Given the description of an element on the screen output the (x, y) to click on. 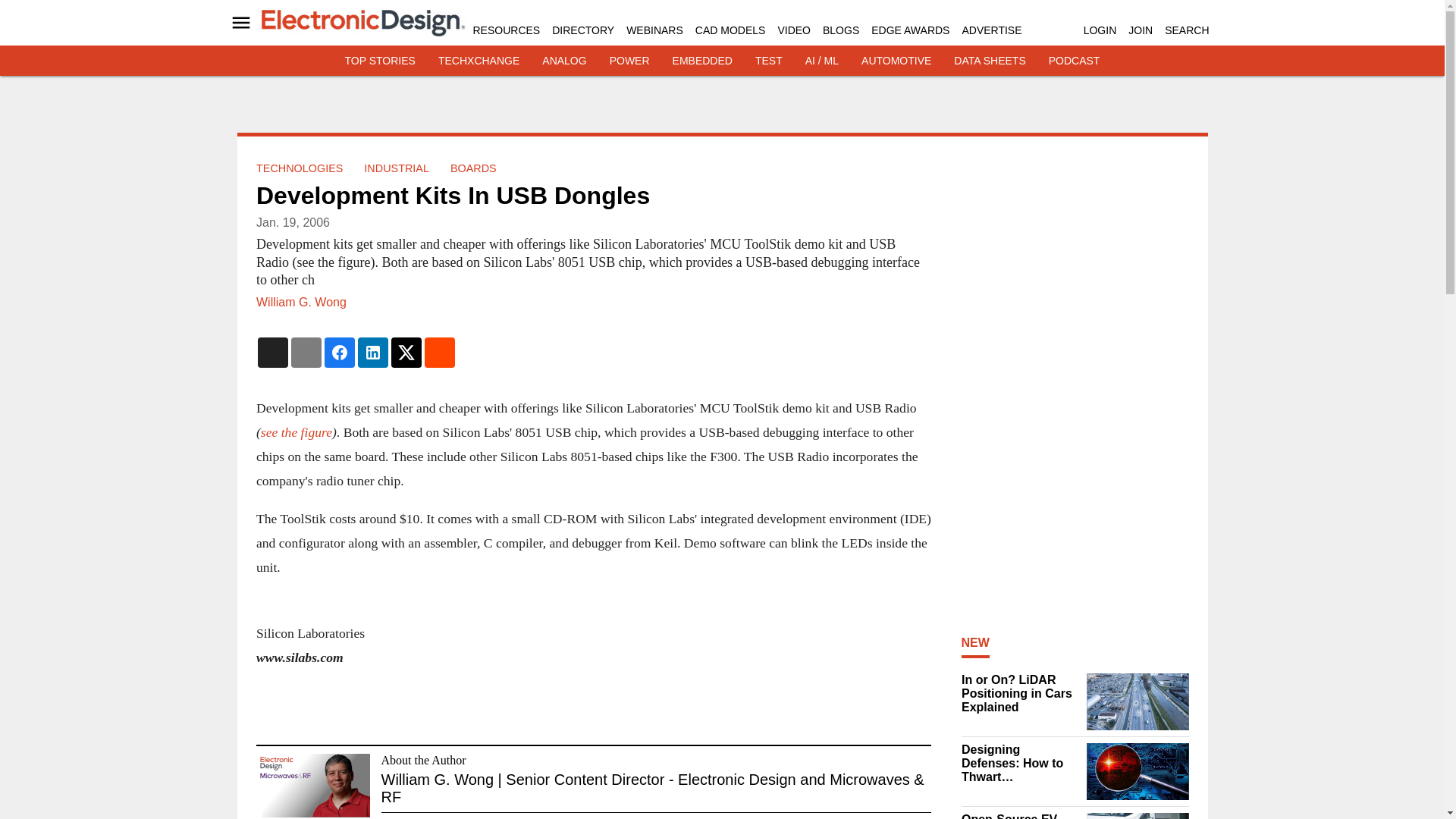
LOGIN (1099, 30)
RESOURCES (506, 30)
ADVERTISE (991, 30)
DATA SHEETS (989, 60)
EMBEDDED (702, 60)
SEARCH (1186, 30)
AUTOMOTIVE (896, 60)
VIDEO (793, 30)
PODCAST (1074, 60)
EDGE AWARDS (909, 30)
CAD MODELS (730, 30)
TOP STORIES (379, 60)
DIRECTORY (582, 30)
TECHXCHANGE (478, 60)
POWER (629, 60)
